Given the description of an element on the screen output the (x, y) to click on. 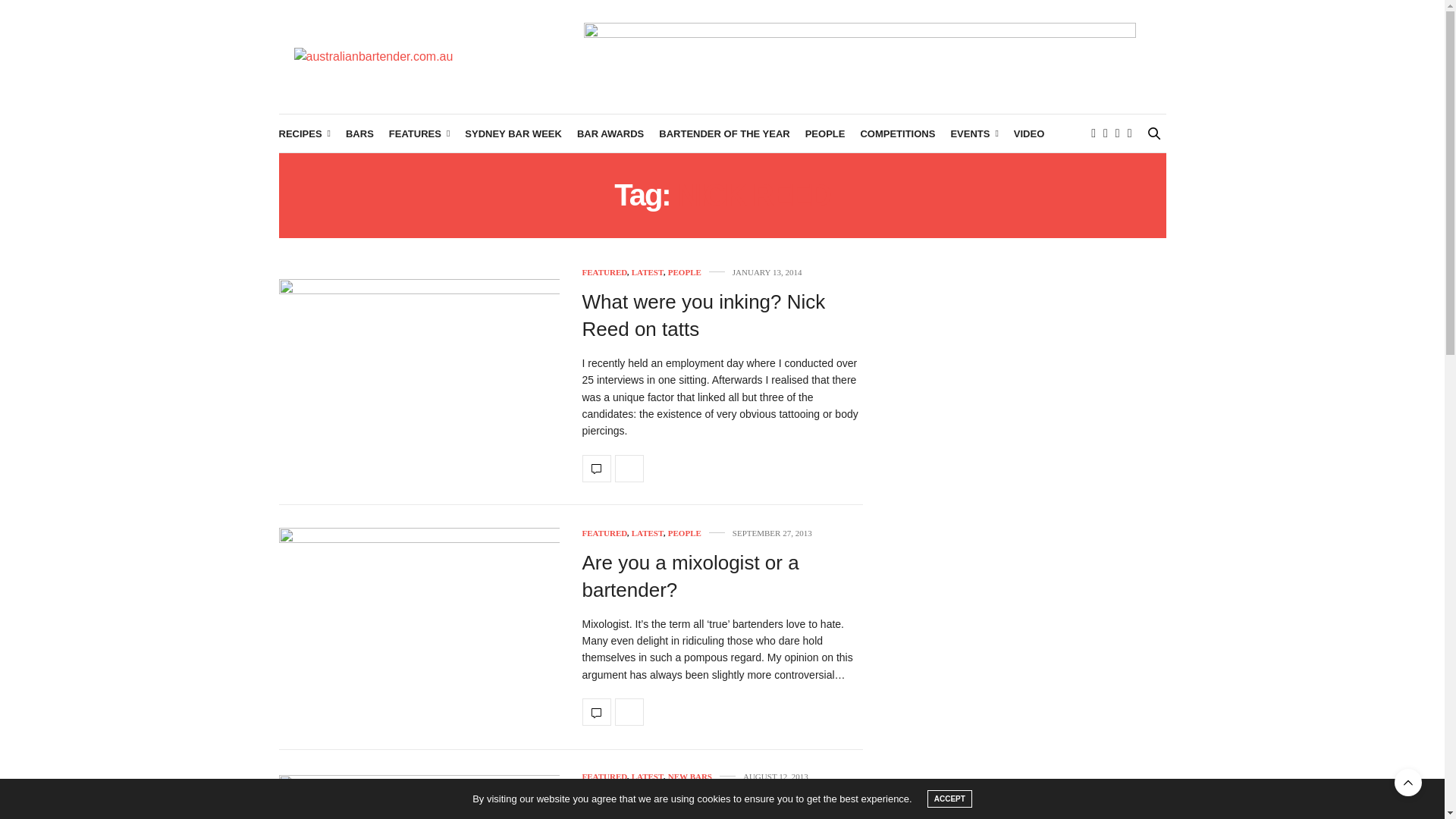
Are you a mixologist or a bartender? (419, 627)
What were you inking? Nick Reed on tatts (596, 468)
FEATURES (418, 133)
RECIPES (304, 133)
What were you inking? Nick Reed on tatts (703, 315)
australianbartender.com.au (373, 56)
What were you inking? Nick Reed on tatts (419, 375)
Are you a mixologist or a bartender? (596, 711)
Are you a mixologist or a bartender? (690, 576)
